Given the description of an element on the screen output the (x, y) to click on. 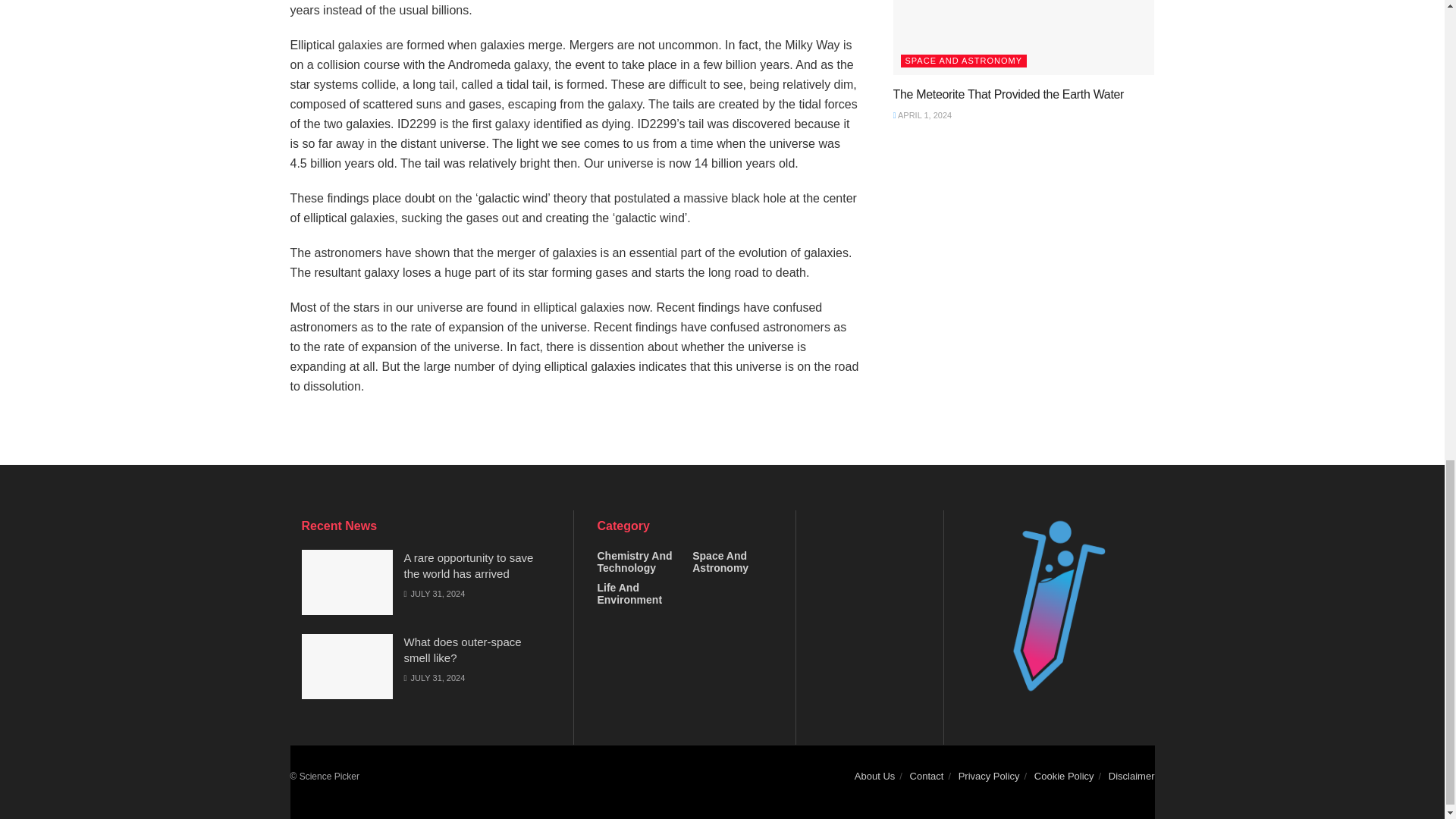
Chemistry And Technology (636, 561)
The Meteorite That Provided the Earth Water (1008, 93)
About Us (874, 776)
Space And Astronomy (733, 561)
SPACE AND ASTRONOMY (964, 60)
APRIL 1, 2024 (922, 114)
Contact (926, 776)
Privacy Policy (989, 776)
Life And Environment (636, 593)
A rare opportunity to save the world has arrived (467, 565)
What does outer-space smell like? (462, 649)
